Given the description of an element on the screen output the (x, y) to click on. 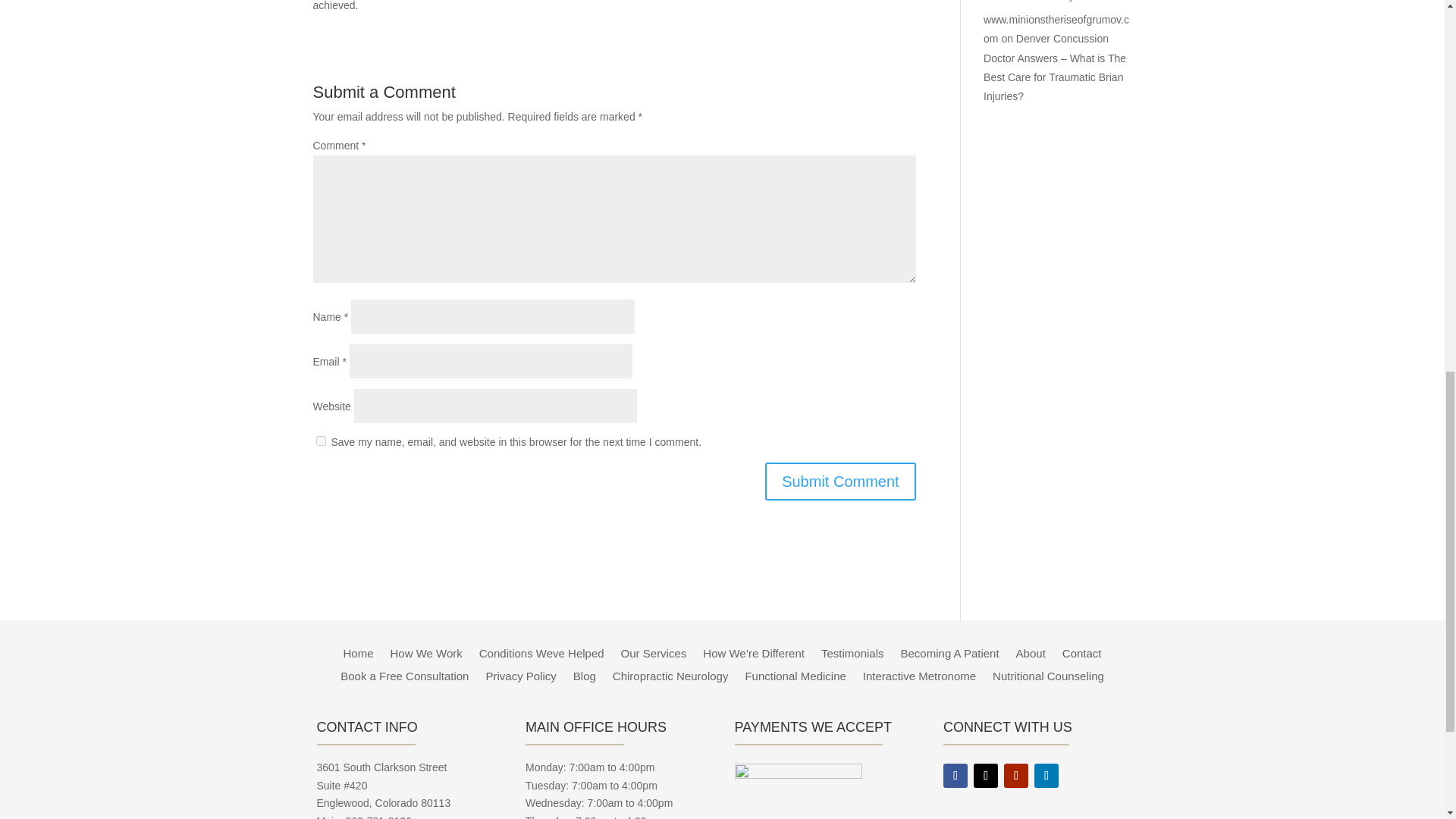
yes (319, 440)
Follow on LinkedIn (1045, 775)
Follow on X (985, 775)
Follow on Youtube (1015, 775)
Follow on Facebook (955, 775)
Submit Comment (840, 481)
